Given the description of an element on the screen output the (x, y) to click on. 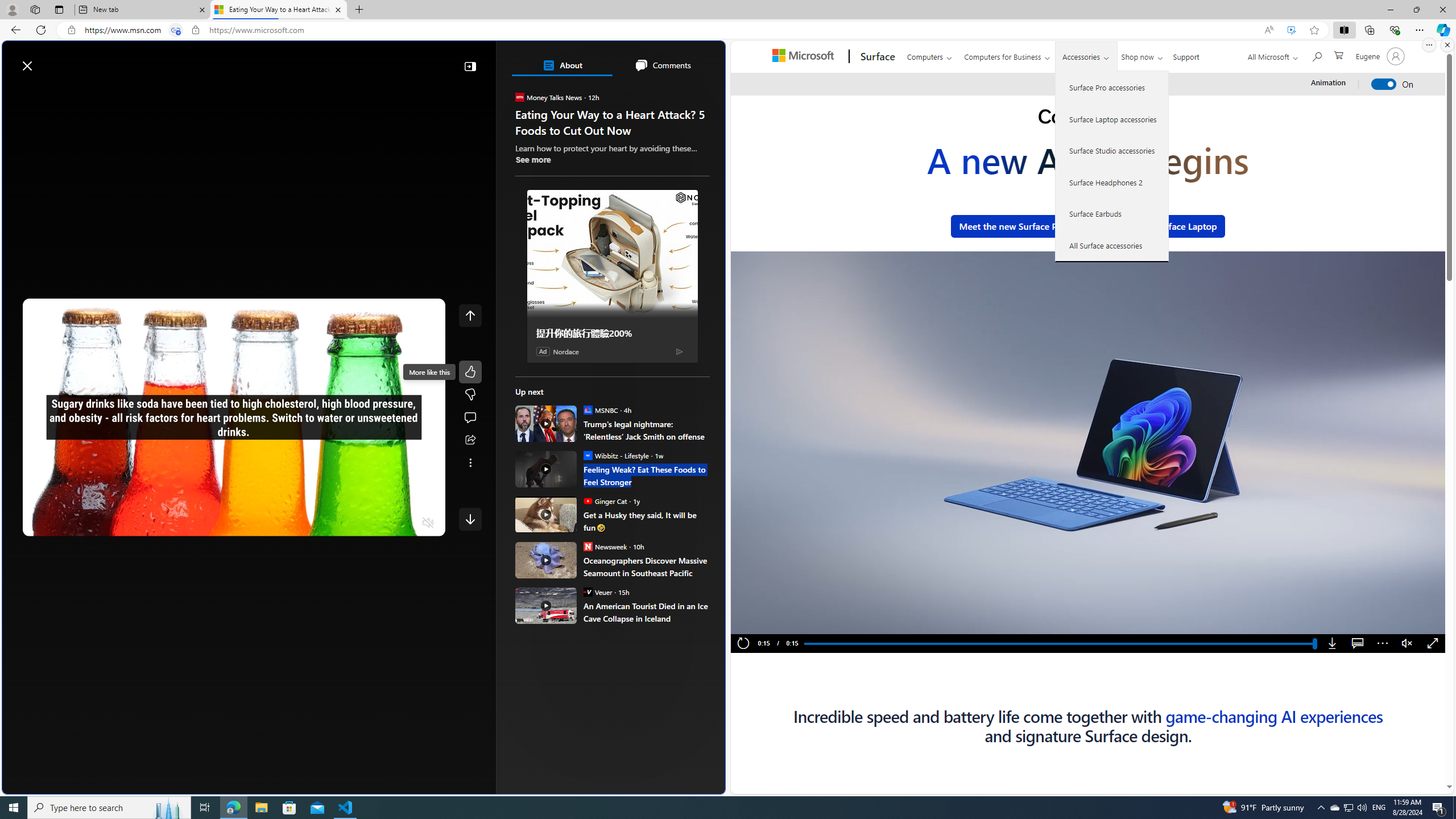
Seek Forward (85, 523)
Surface Headphones 2 (1112, 182)
0 items in shopping cart (1338, 53)
Open navigation menu (16, 92)
Veuer (587, 591)
Captions (1357, 643)
AutomationID: pause-svg (762, 621)
